Given the description of an element on the screen output the (x, y) to click on. 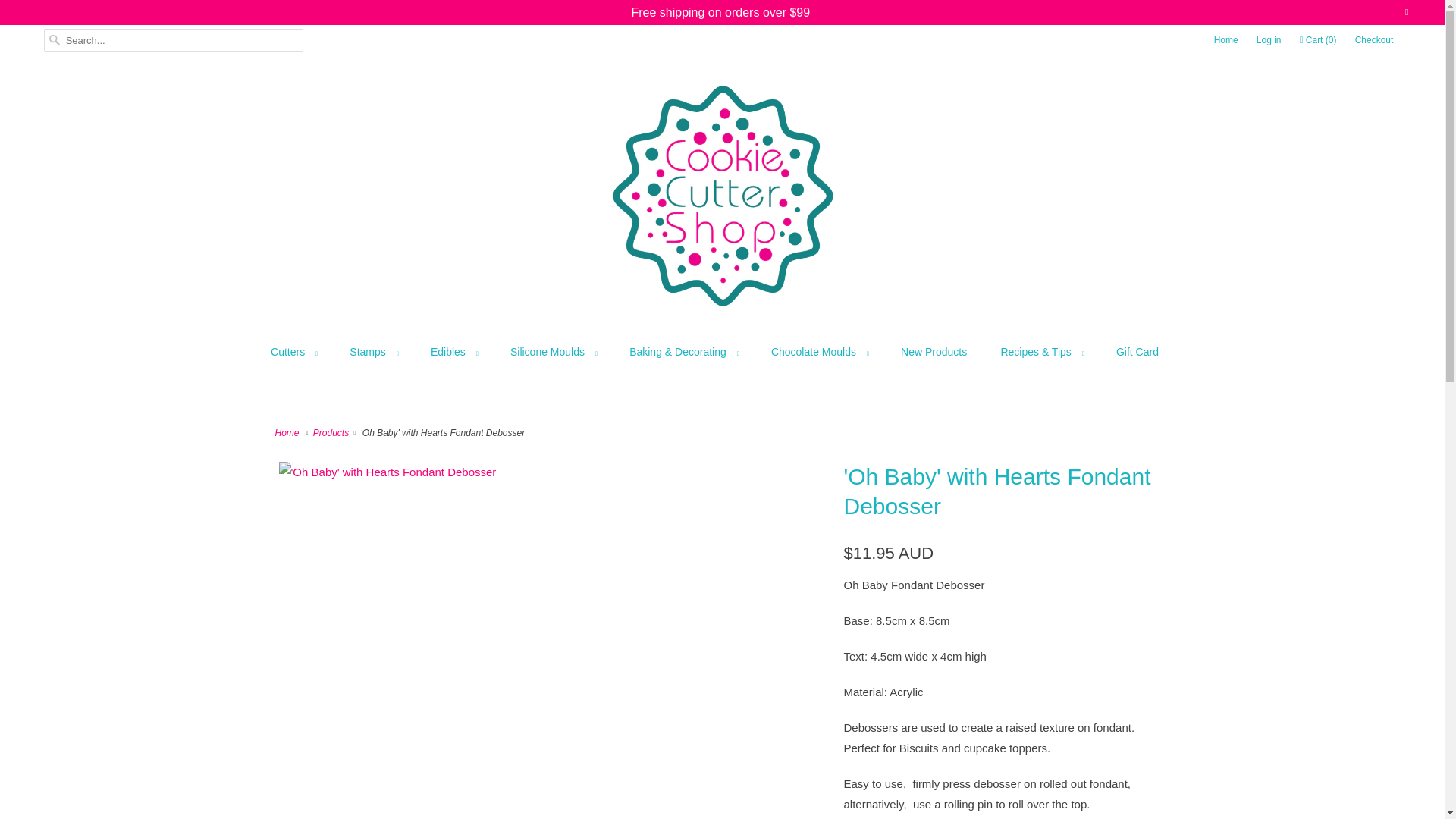
Checkout (1374, 39)
Cookie Cutter Shop Australia (288, 432)
Home (1226, 39)
Log in (1268, 39)
Products (332, 432)
